Given the description of an element on the screen output the (x, y) to click on. 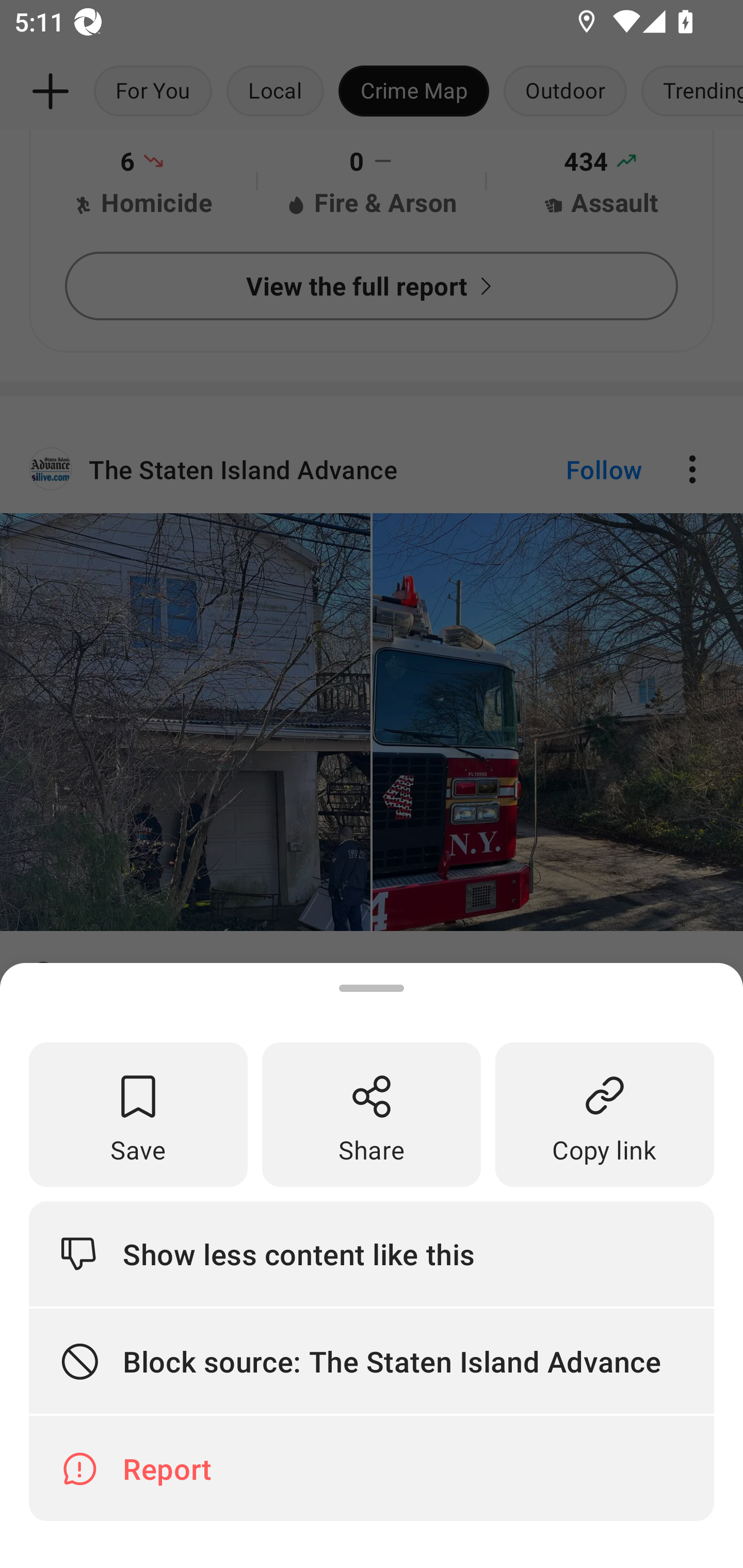
Save (137, 1114)
Share (371, 1114)
Copy link (604, 1114)
Show less content like this (371, 1253)
Block source: The Staten Island Advance (371, 1361)
Report (371, 1467)
